Given the description of an element on the screen output the (x, y) to click on. 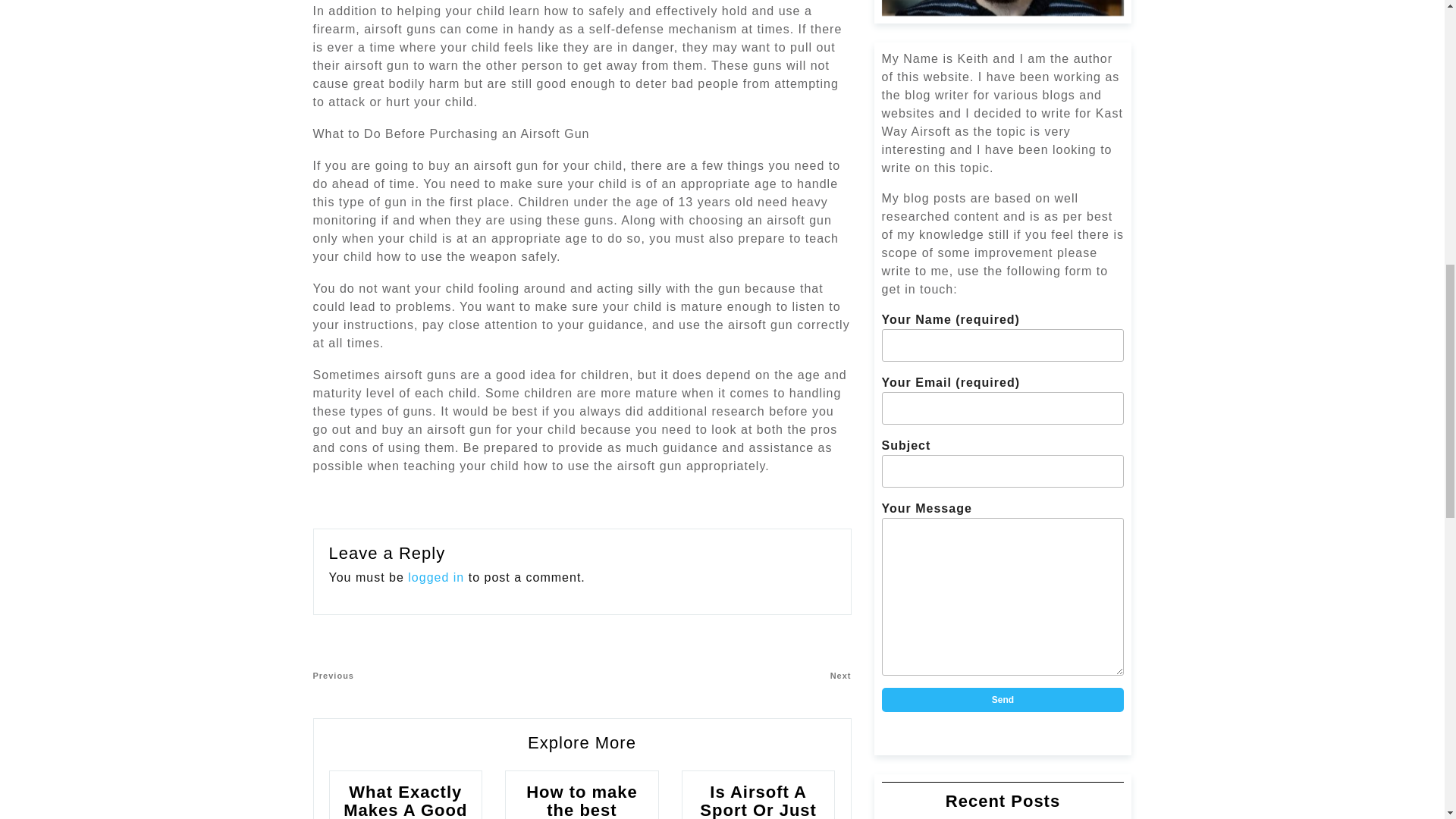
Is Airsoft A Sport Or Just A Hobby? (758, 800)
Send (1002, 699)
logged in (446, 675)
Send (435, 576)
What Exactly Makes A Good Airsoft Brand? (1002, 699)
